Given the description of an element on the screen output the (x, y) to click on. 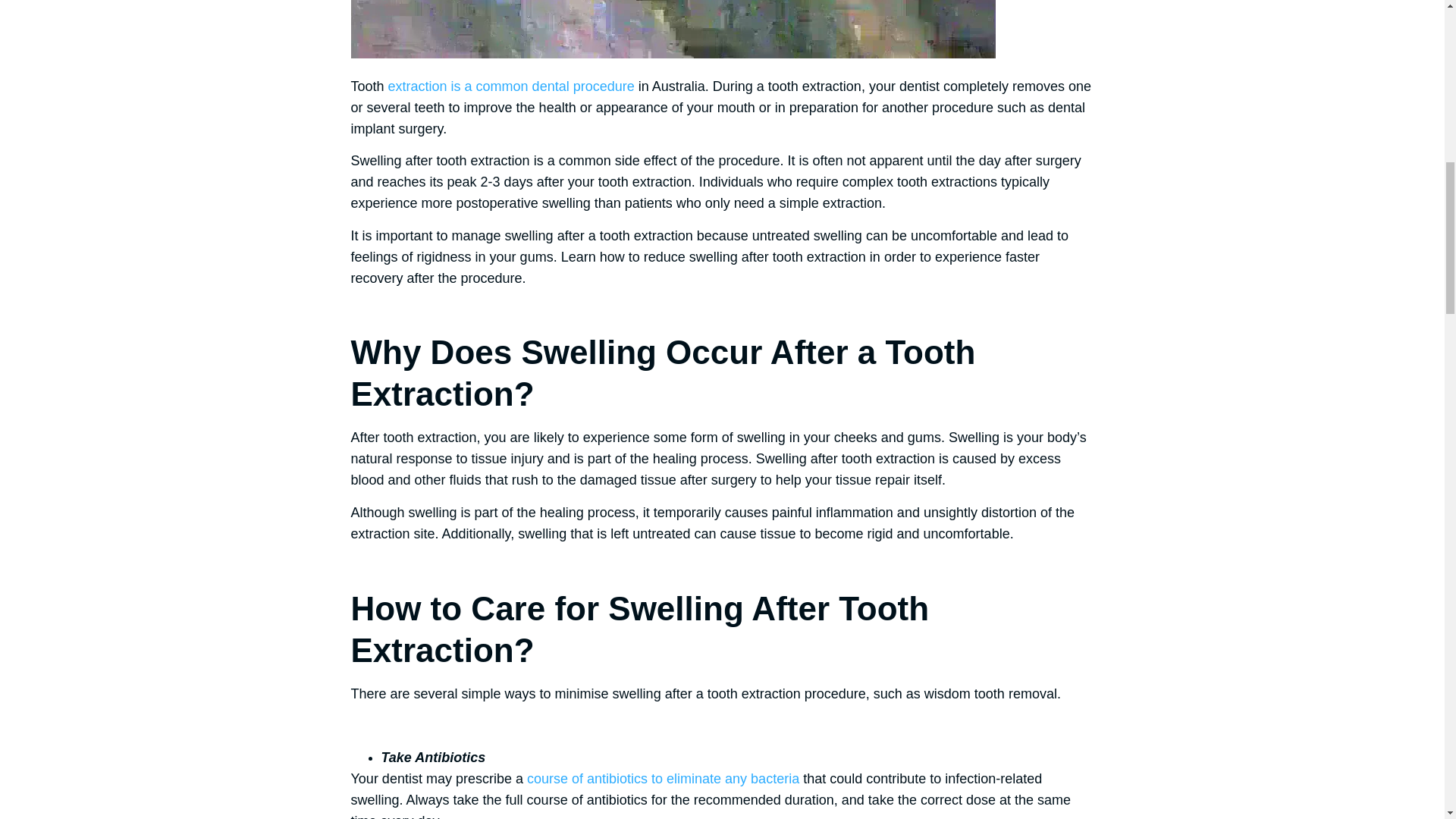
swelling-after-tooth-extraction-sydney (672, 29)
